Given the description of an element on the screen output the (x, y) to click on. 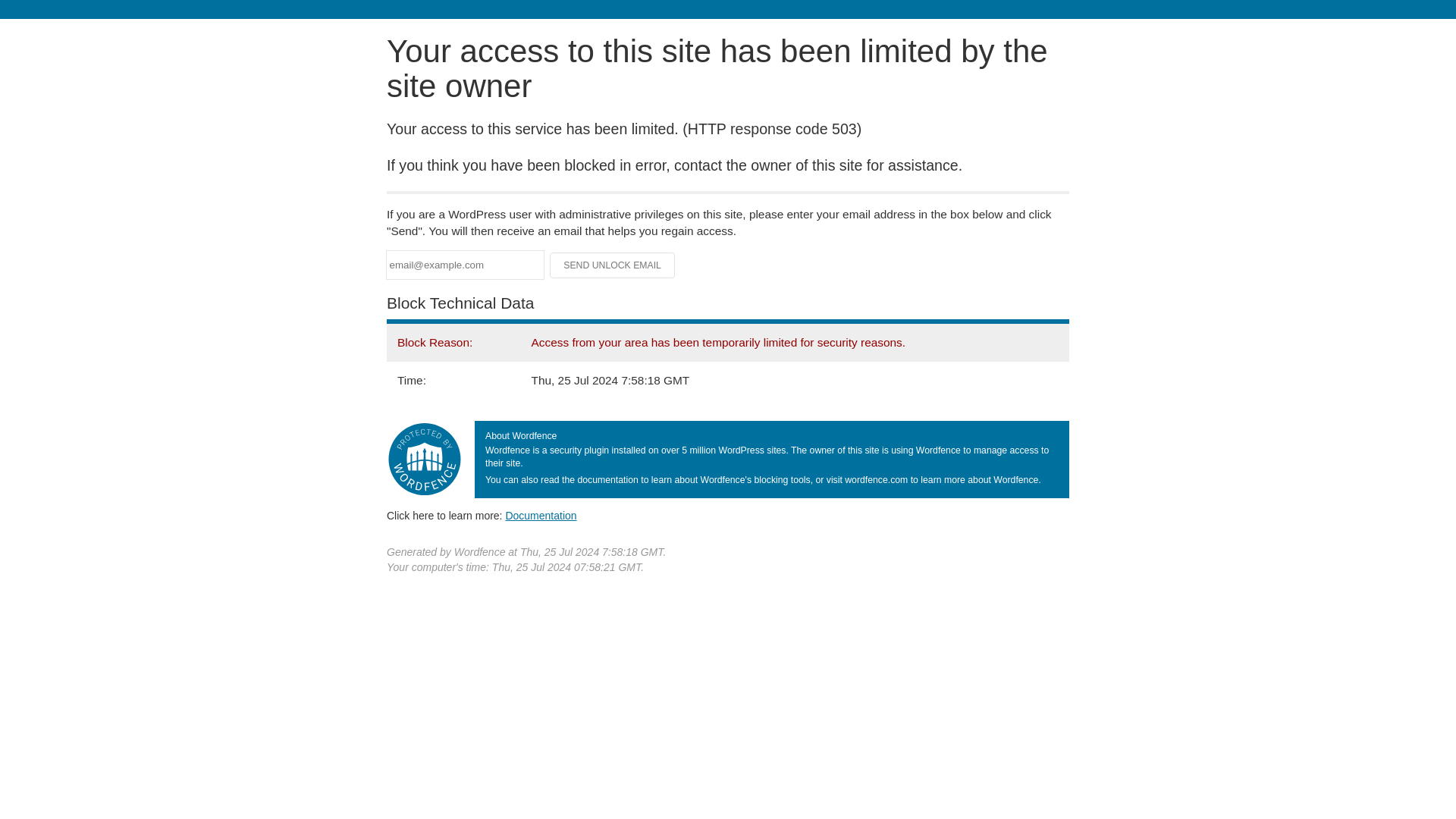
Send Unlock Email (612, 265)
Send Unlock Email (612, 265)
Documentation (540, 515)
